Given the description of an element on the screen output the (x, y) to click on. 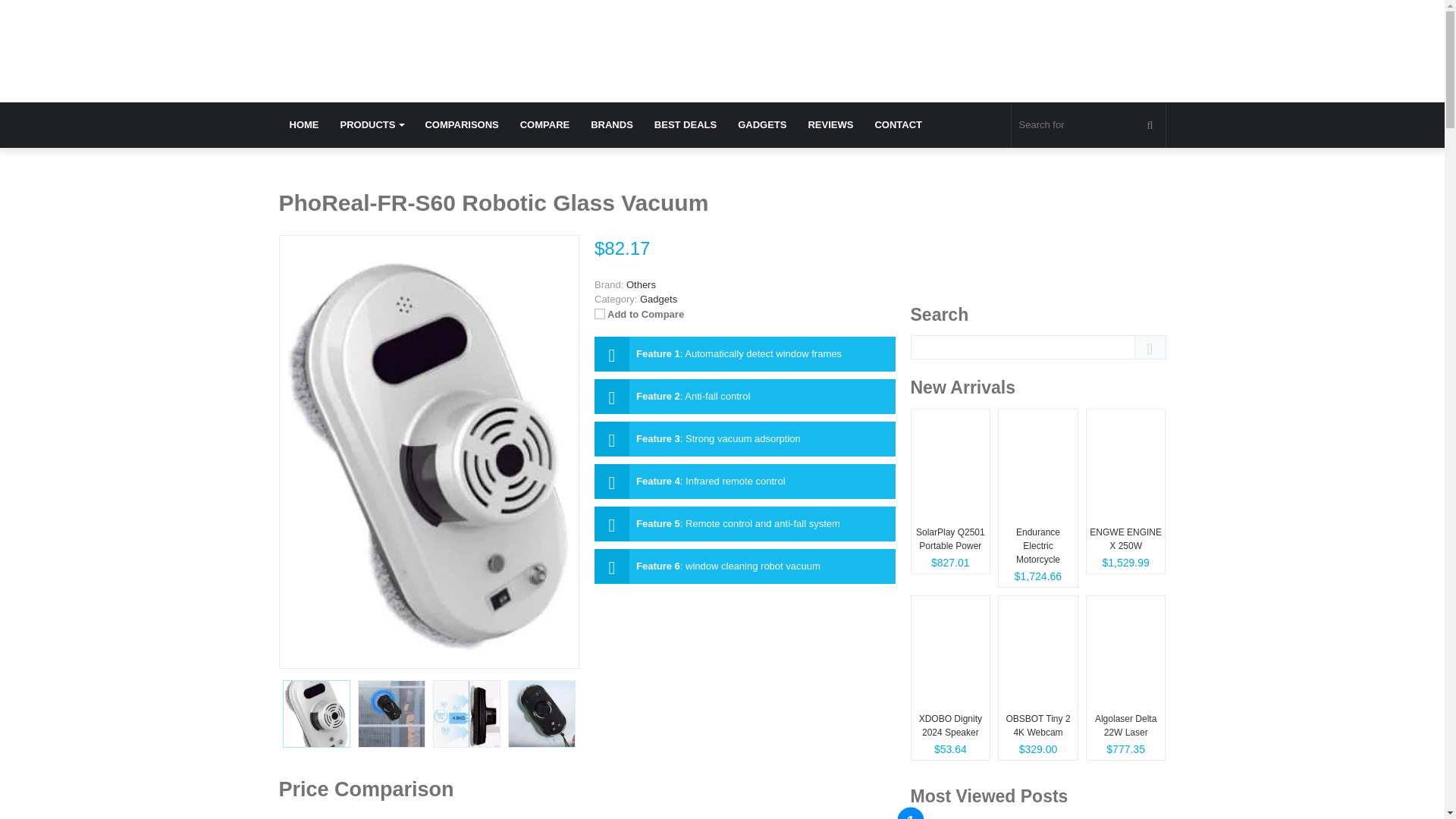
COMPARE (544, 125)
BRANDS (611, 125)
PRODUCTS (371, 125)
COMPARISONS (460, 125)
BEST DEALS (684, 125)
Others (641, 284)
Gadgets (658, 298)
HOME (304, 125)
CONTACT (898, 125)
Search for (1088, 125)
REVIEWS (829, 125)
GADGETS (761, 125)
